Given the description of an element on the screen output the (x, y) to click on. 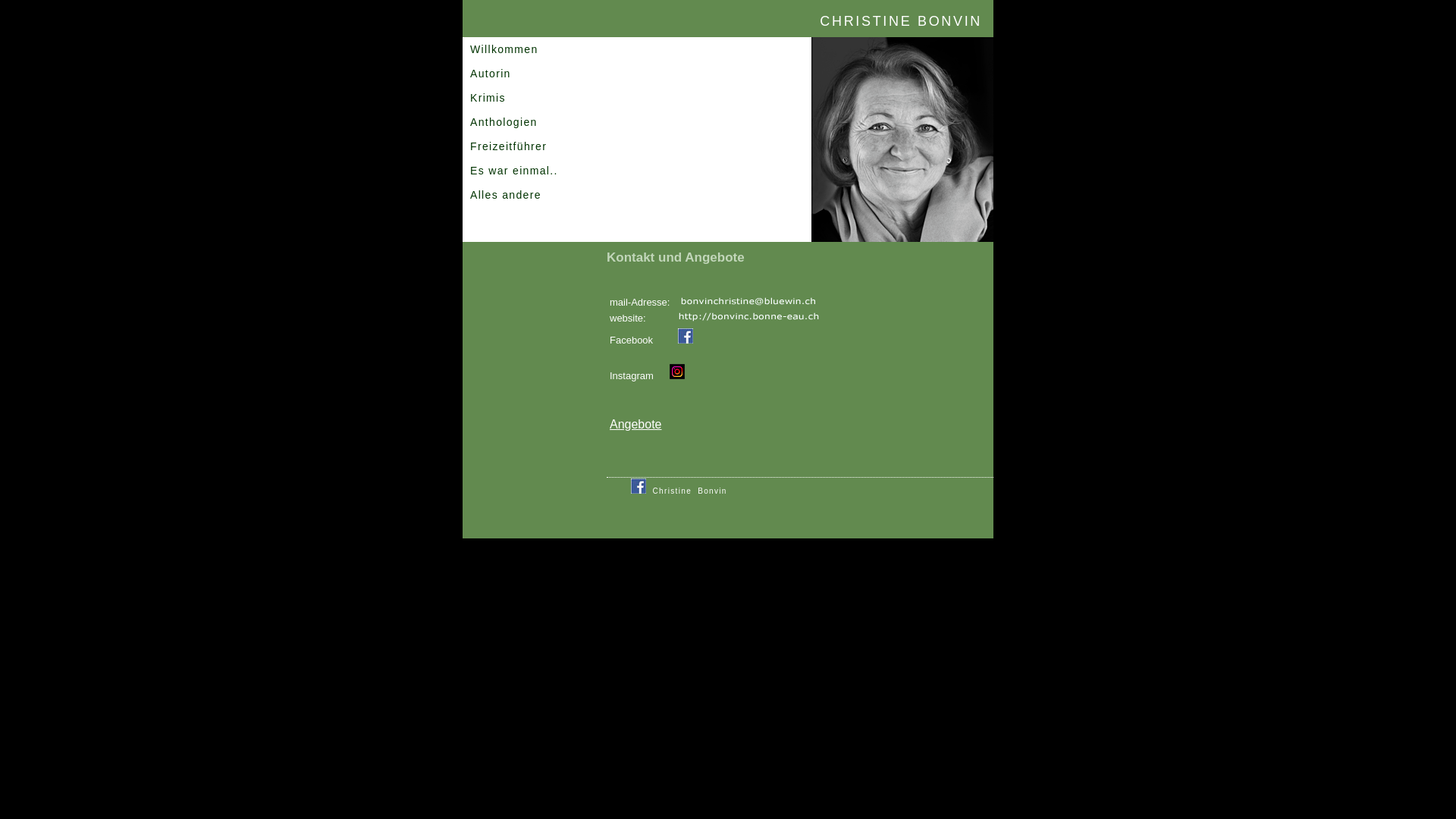
Autorin Element type: text (530, 73)
Es war einmal.. Element type: text (530, 170)
Willkommen Element type: text (530, 49)
Anthologien Element type: text (530, 121)
Alles andere Element type: text (530, 194)
Krimis Element type: text (530, 97)
Angebote Element type: text (635, 423)
